Given the description of an element on the screen output the (x, y) to click on. 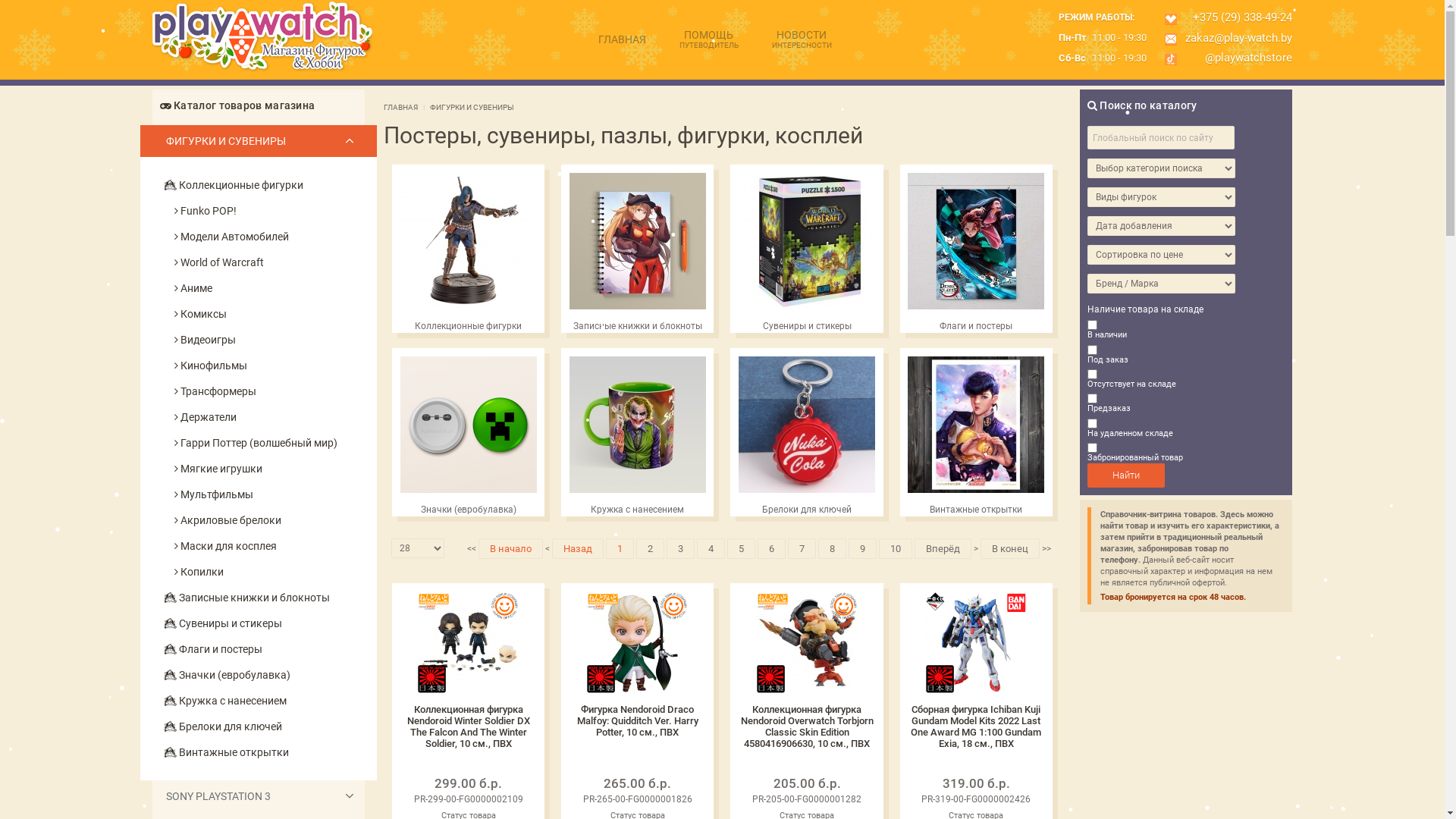
PR-319-00-FG0000002426 Element type: text (975, 798)
Japanese product Element type: hover (637, 642)
> Element type: text (975, 548)
Japanese product Element type: hover (807, 642)
NENDOROID Series Element type: hover (627, 632)
7 Element type: text (801, 548)
NENDOROID Series Element type: hover (796, 632)
3 Element type: text (680, 548)
Japanese product Element type: hover (468, 642)
SONY PLAYSTATION 3 Element type: text (257, 796)
>> Element type: text (1045, 548)
Funko POP! Element type: text (275, 210)
2 Element type: text (650, 548)
PR-299-00-FG0000002109 Element type: text (468, 798)
@playwatchstore Element type: text (1245, 58)
+375 (29) 338-49-24 Element type: text (1239, 17)
World of Warcraft Element type: text (275, 262)
5 Element type: text (741, 548)
Ichiban Kuji Element type: hover (955, 621)
6 Element type: text (771, 548)
8 Element type: text (832, 548)
PR-205-00-FG0000001282 Element type: text (806, 798)
9 Element type: text (862, 548)
PR-265-00-FG0000001826 Element type: text (637, 798)
NENDOROID Series Element type: hover (457, 632)
10 Element type: text (895, 548)
4 Element type: text (710, 548)
Japanese product Element type: hover (976, 642)
zakaz@play-watch.by Element type: text (1235, 38)
